Given the description of an element on the screen output the (x, y) to click on. 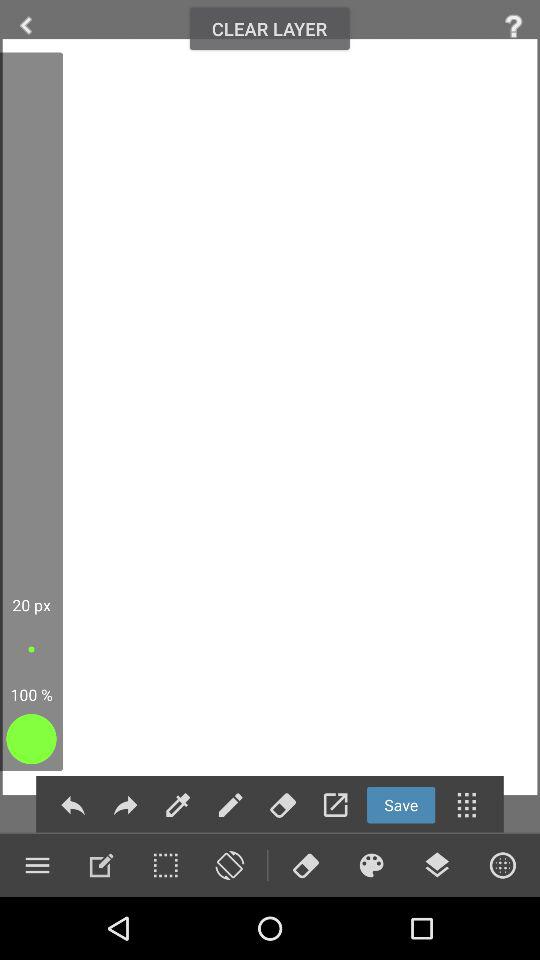
use selection tool (165, 865)
